Given the description of an element on the screen output the (x, y) to click on. 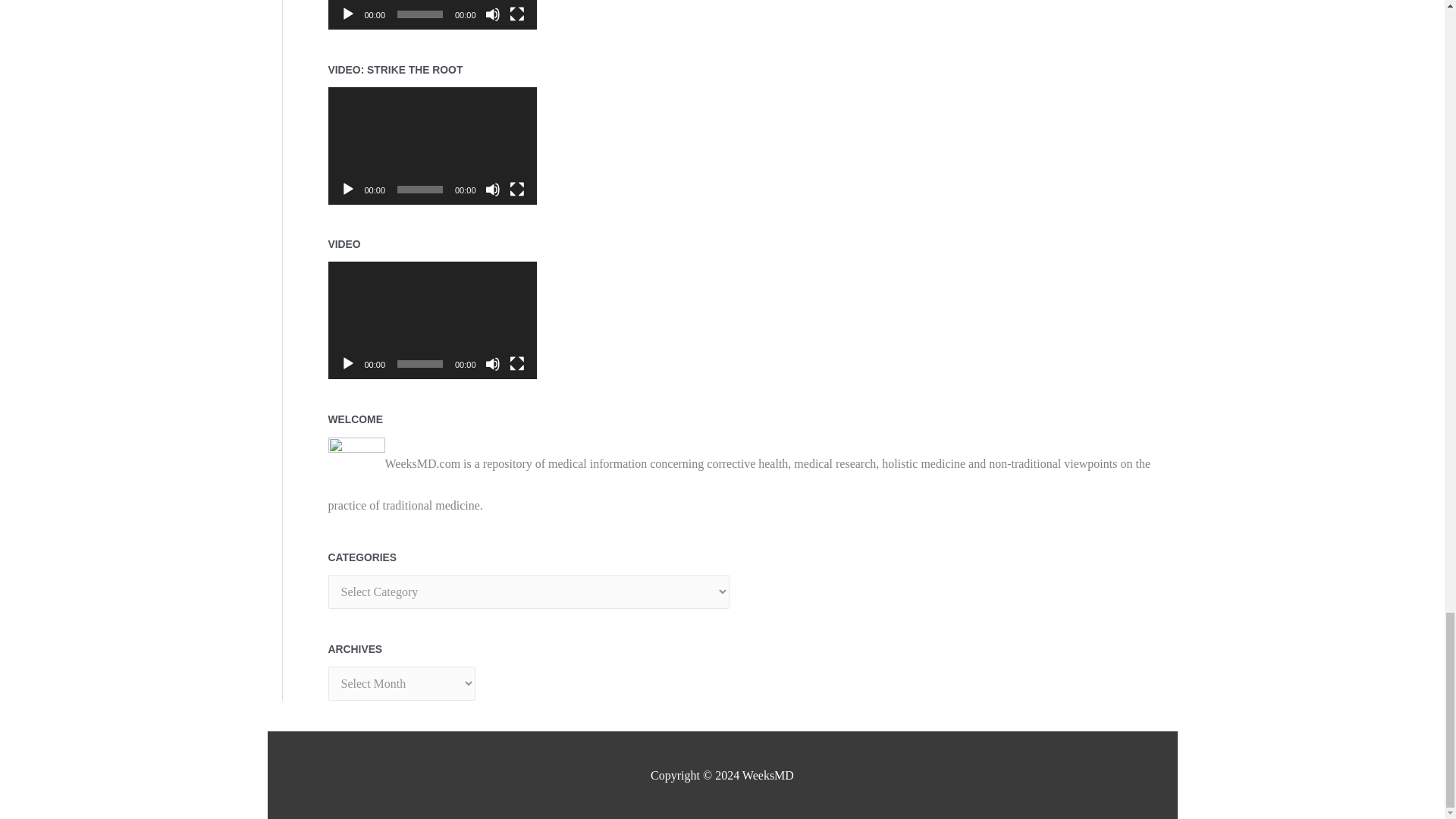
Fullscreen (516, 189)
Mute (492, 363)
Mute (492, 189)
Mute (492, 14)
Fullscreen (516, 363)
Play (347, 363)
Play (347, 14)
Fullscreen (516, 14)
Play (347, 189)
